Given the description of an element on the screen output the (x, y) to click on. 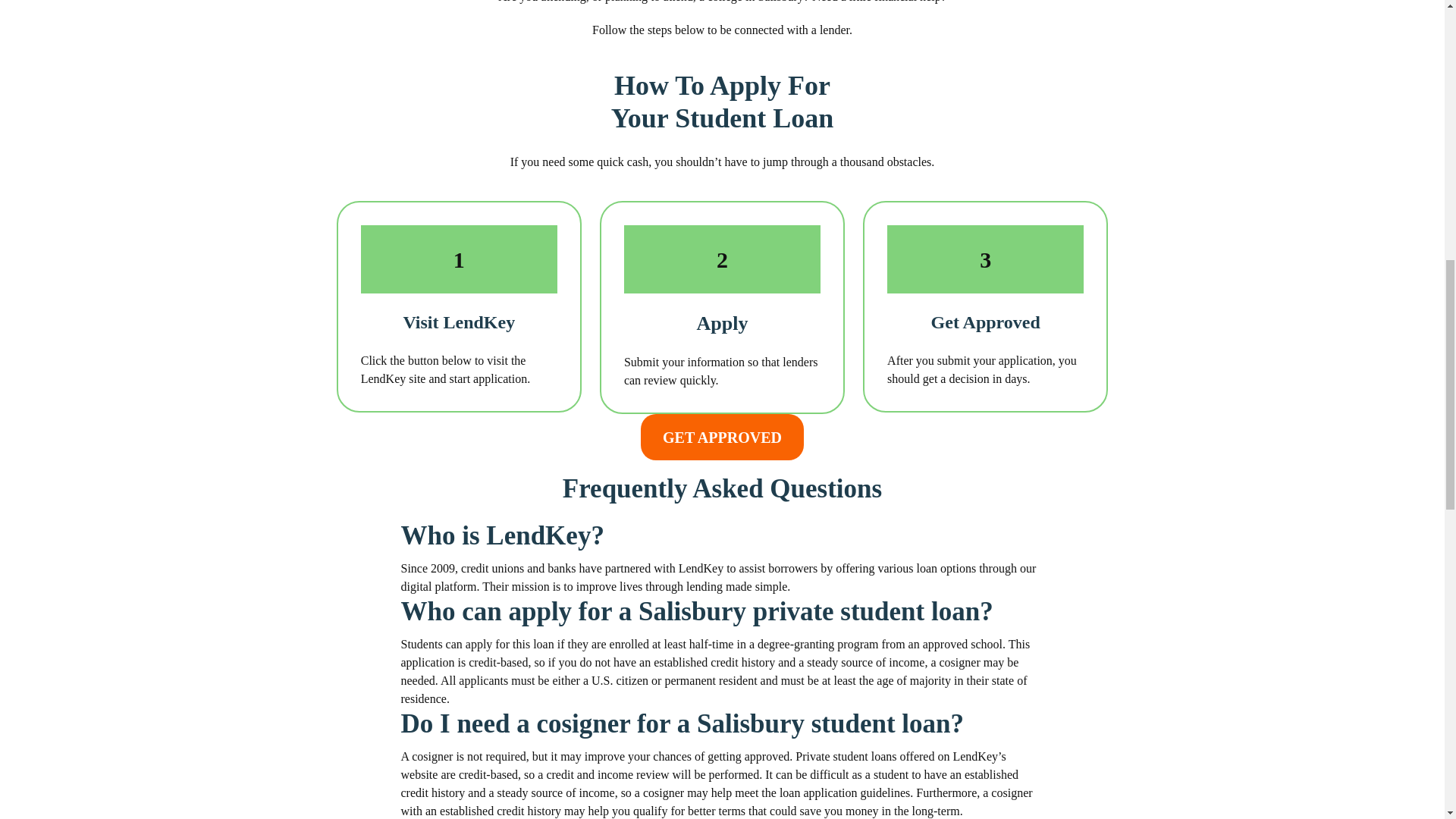
GET APPROVED (721, 437)
